Given the description of an element on the screen output the (x, y) to click on. 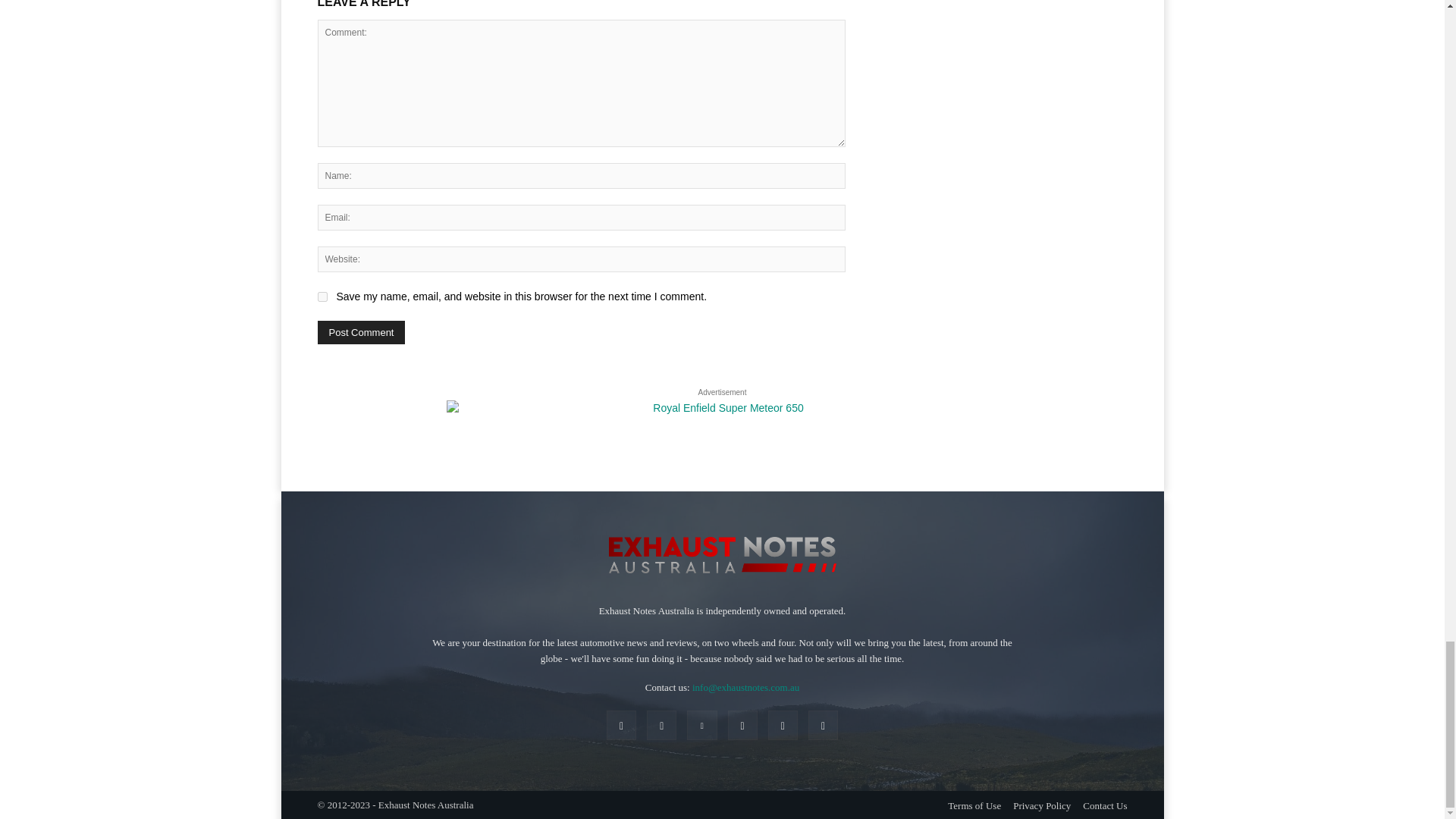
Post Comment (360, 332)
yes (321, 296)
